Given the description of an element on the screen output the (x, y) to click on. 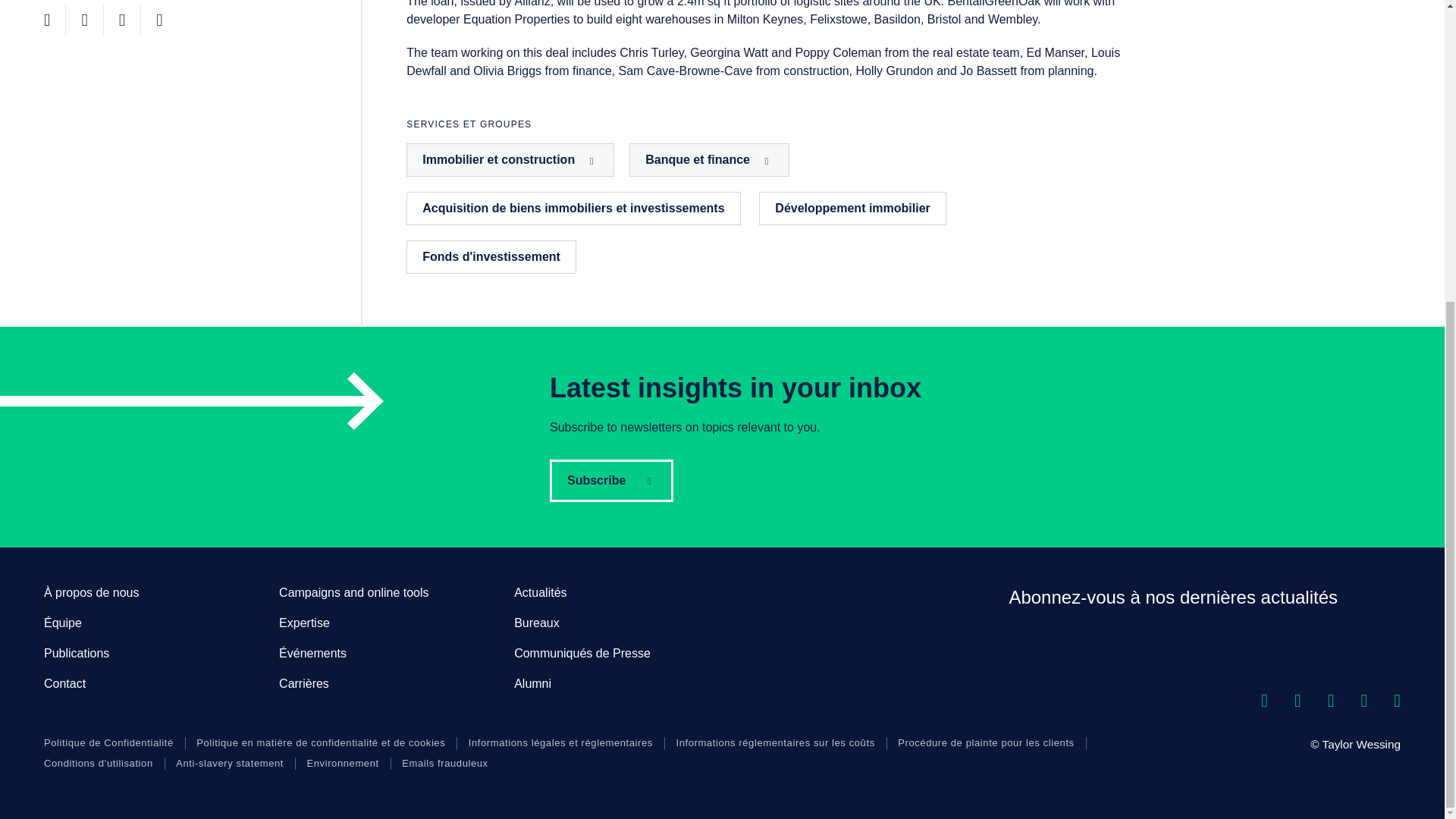
Banques et finances (708, 159)
Real estate and construction (510, 159)
Subscribe (611, 480)
